Given the description of an element on the screen output the (x, y) to click on. 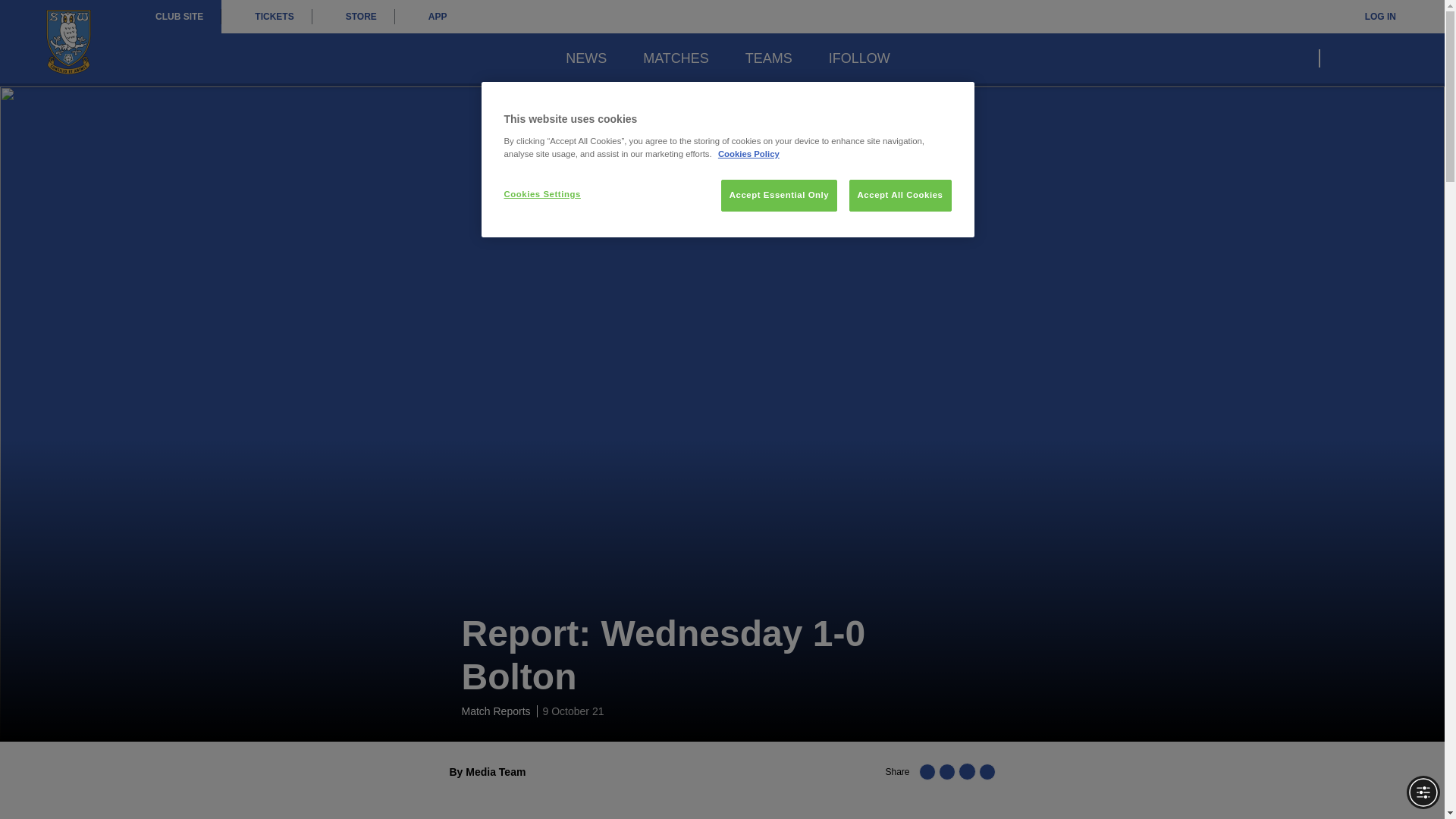
STORE (353, 16)
MATCHES (676, 58)
APP (429, 16)
Cookies Policy (747, 153)
Accept Essential Only (778, 195)
Cookies Settings (554, 194)
IFOLLOW (858, 58)
LOG IN (1369, 16)
Accept All Cookies (900, 195)
TEAMS (768, 58)
